Given the description of an element on the screen output the (x, y) to click on. 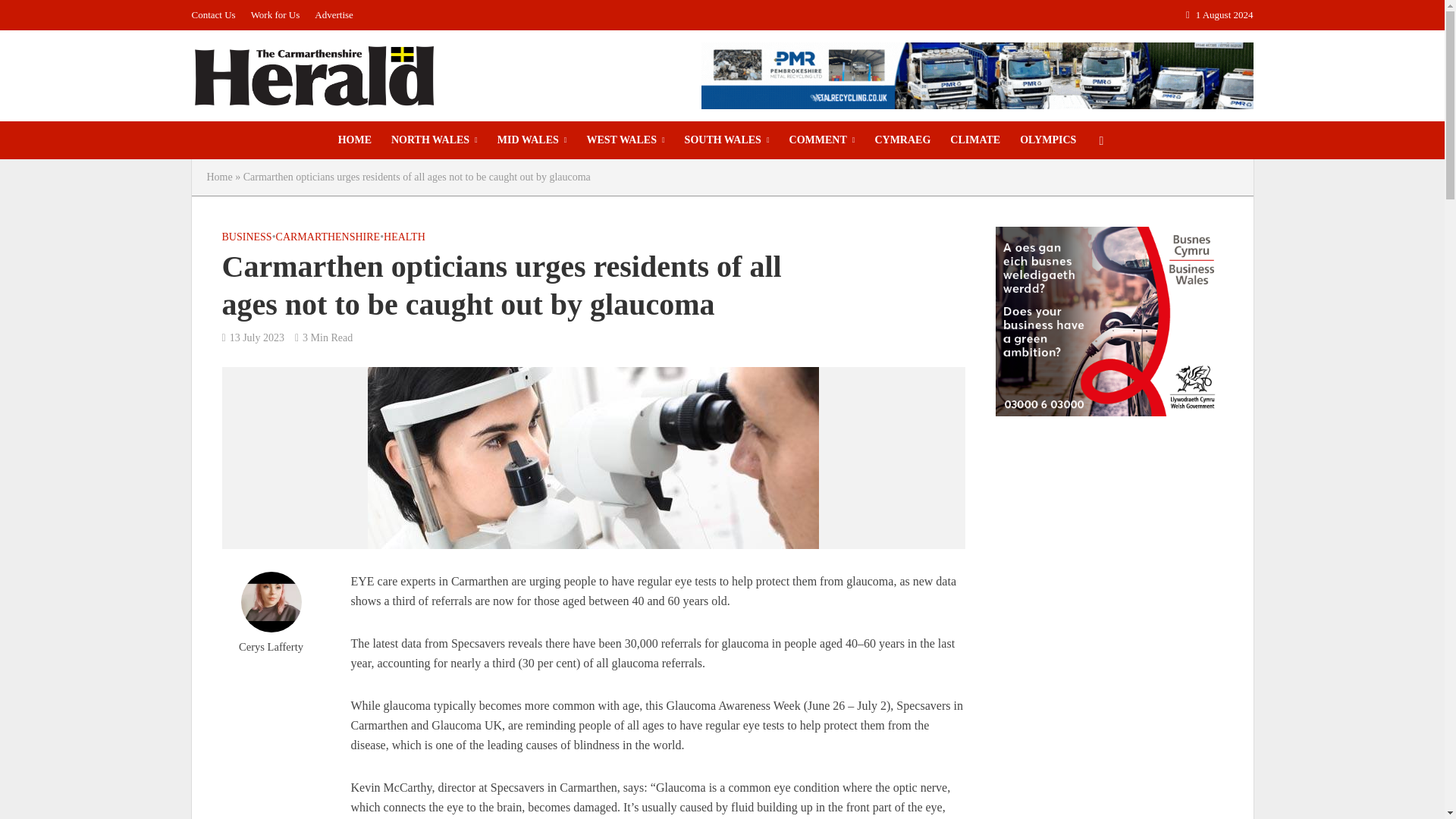
Advertise (334, 15)
NORTH WALES (434, 139)
HOME (355, 139)
CLIMATE (975, 139)
WEST WALES (625, 139)
CYMRAEG (902, 139)
Contact Us (216, 15)
COMMENT (821, 139)
Work for Us (275, 15)
SOUTH WALES (726, 139)
MID WALES (531, 139)
OLYMPICS (1048, 139)
